Given the description of an element on the screen output the (x, y) to click on. 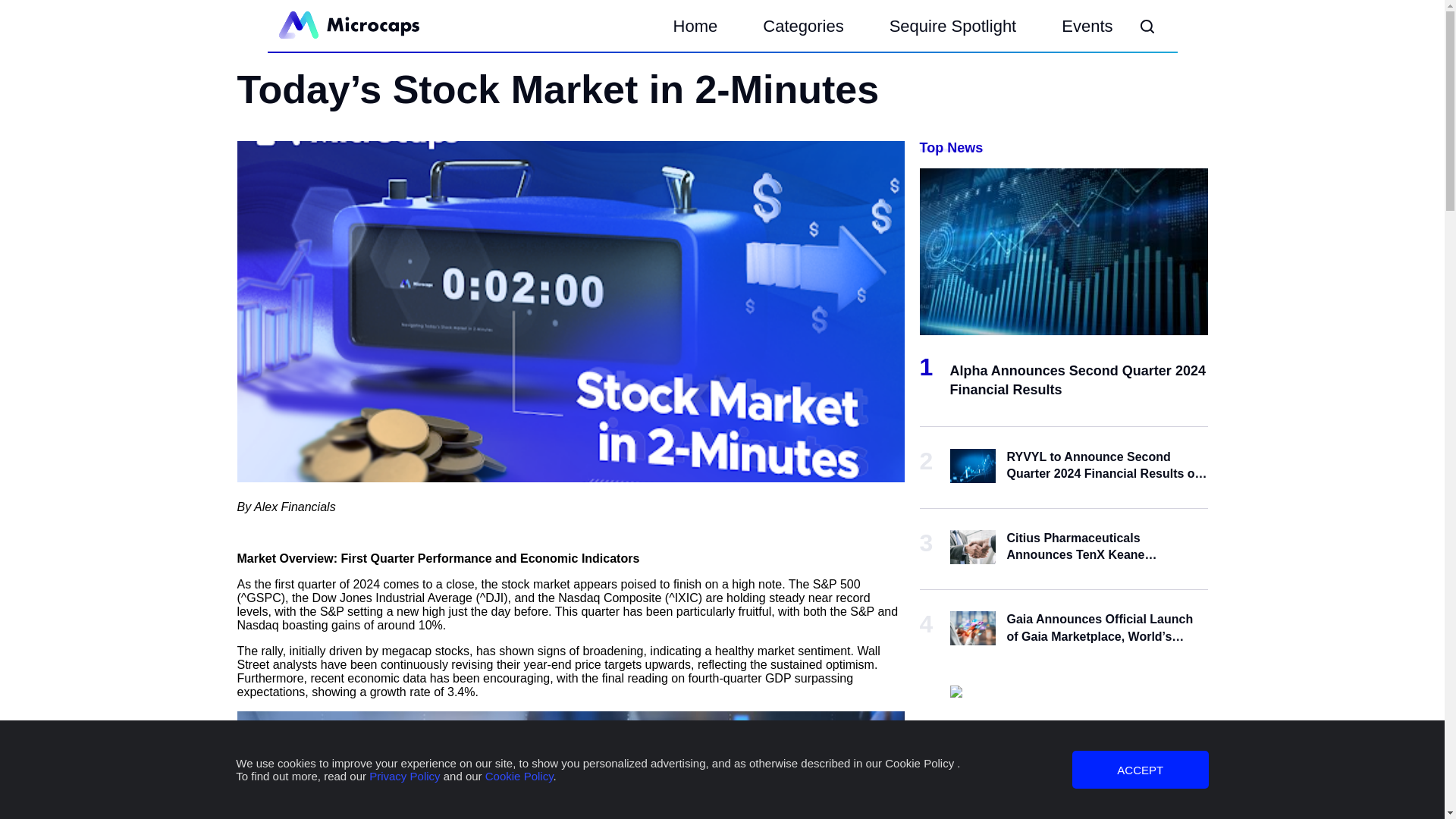
Events (1087, 26)
Categories (802, 26)
Home (695, 26)
Sequire Spotlight (952, 26)
